Given the description of an element on the screen output the (x, y) to click on. 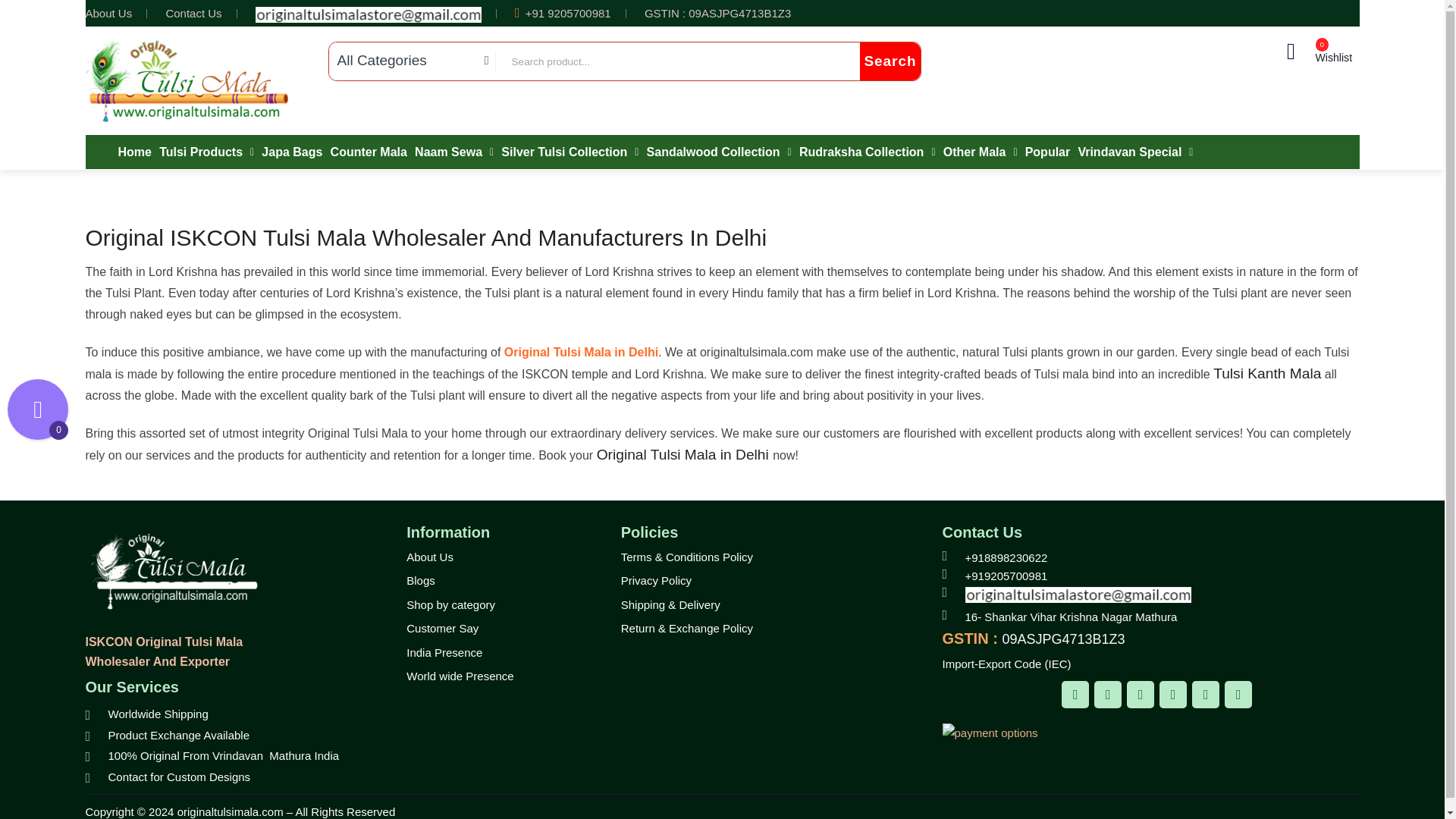
originaltulsimala.com (186, 79)
Facebook (1075, 694)
Instagram (1140, 694)
Youtube (1238, 694)
Linkedin (1206, 694)
originaltulsimala.com (170, 571)
Contact Us (193, 12)
About Us (108, 12)
Pinterest (1172, 694)
Twitter (1107, 694)
